Given the description of an element on the screen output the (x, y) to click on. 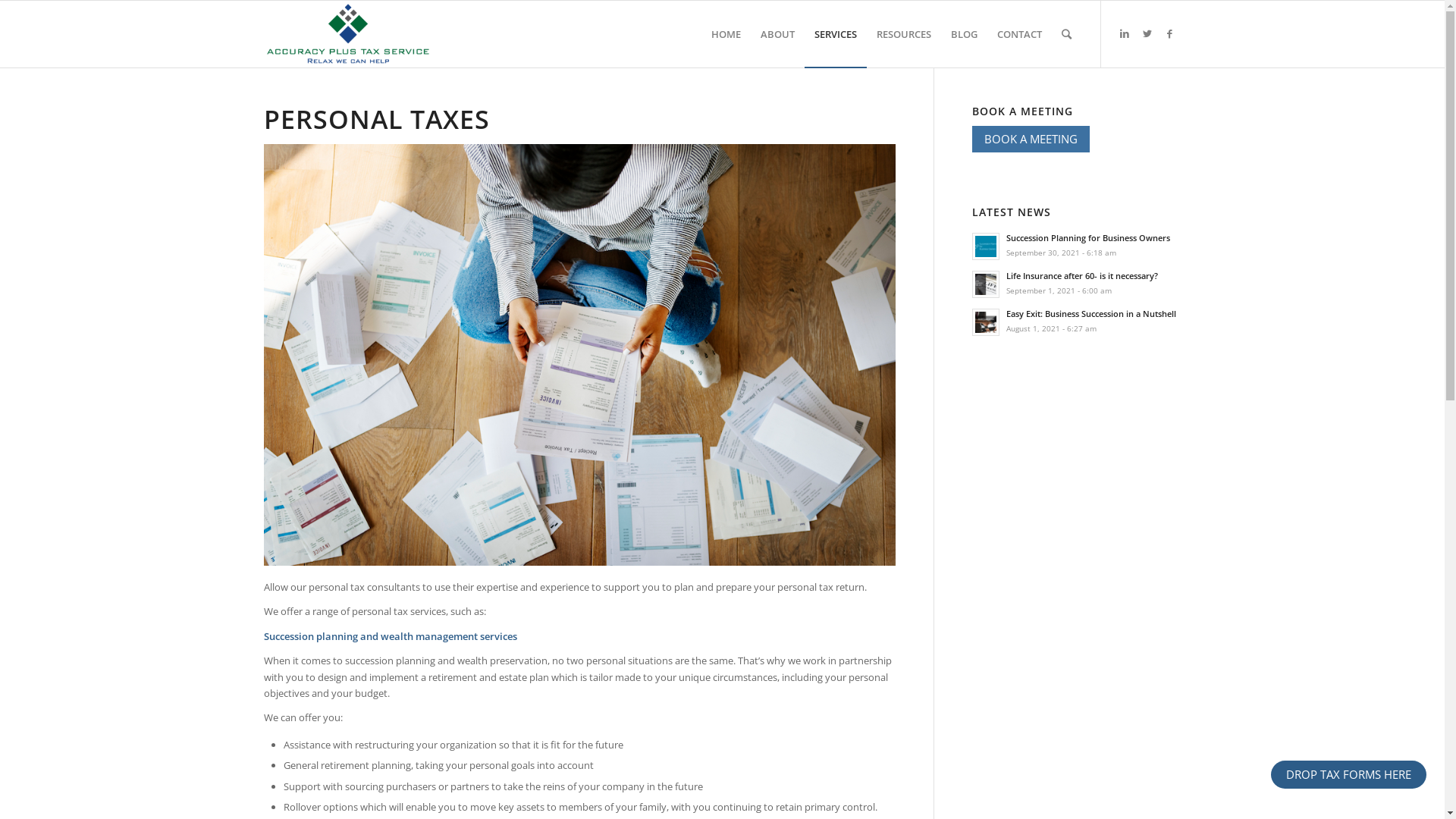
Facebook Element type: hover (1169, 32)
BLOG Element type: text (963, 33)
HOME Element type: text (724, 33)
ABOUT Element type: text (777, 33)
DROP TAX FORMS HERE Element type: text (1348, 774)
BOOK A MEETING Element type: text (1030, 138)
SERVICES Element type: text (834, 33)
Twitter Element type: hover (1146, 32)
CONTACT Element type: text (1019, 33)
LinkedIn Element type: hover (1124, 32)
RESOURCES Element type: text (903, 33)
